Given the description of an element on the screen output the (x, y) to click on. 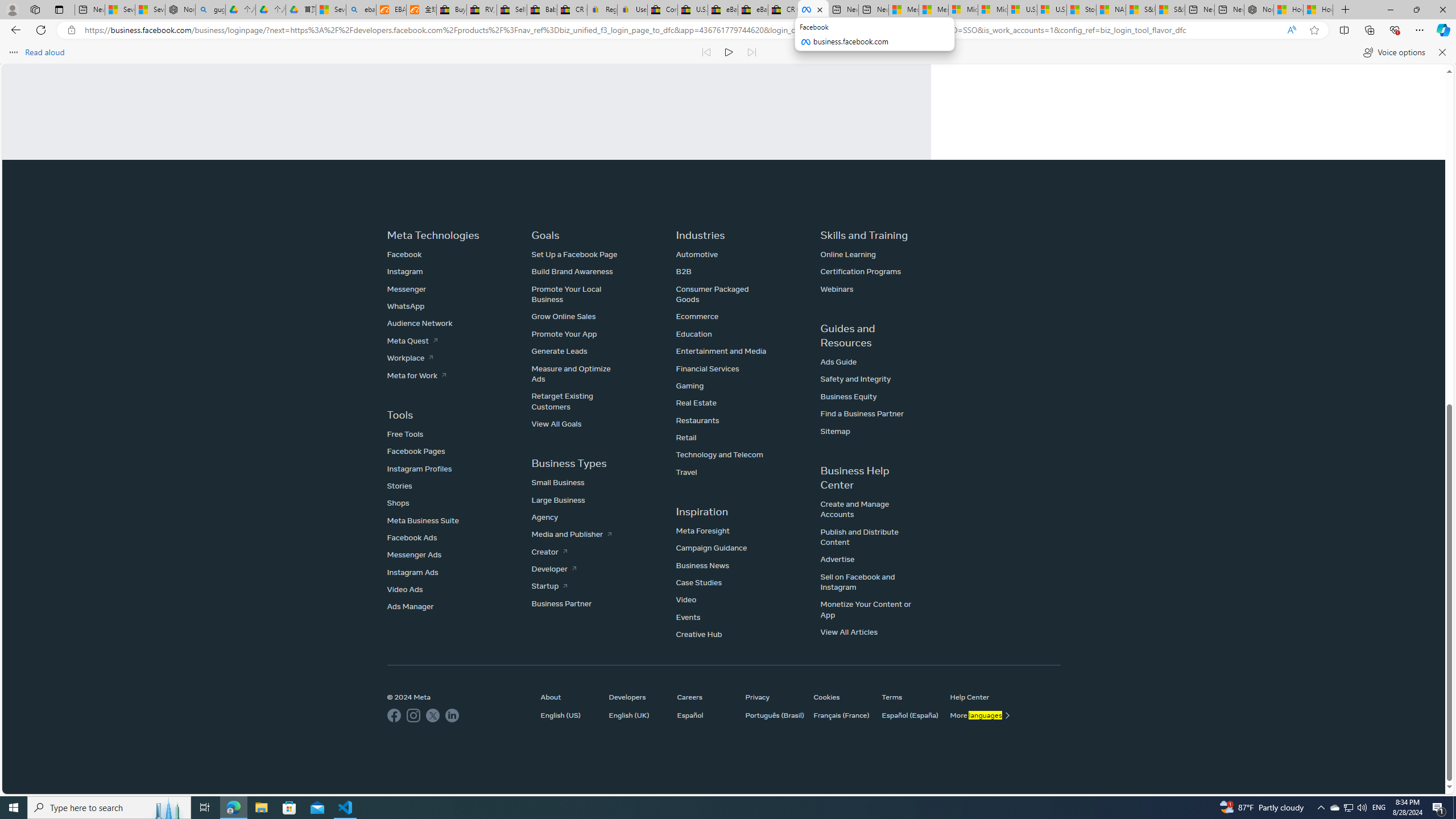
Instagram (405, 271)
Shops (398, 502)
View All Articles (848, 632)
Free Tools (405, 433)
Close read aloud (1441, 52)
Meta Foresight (702, 530)
Small Business (558, 482)
Read next paragraph (750, 52)
Financial Services (707, 368)
Help Center (978, 696)
